Given the description of an element on the screen output the (x, y) to click on. 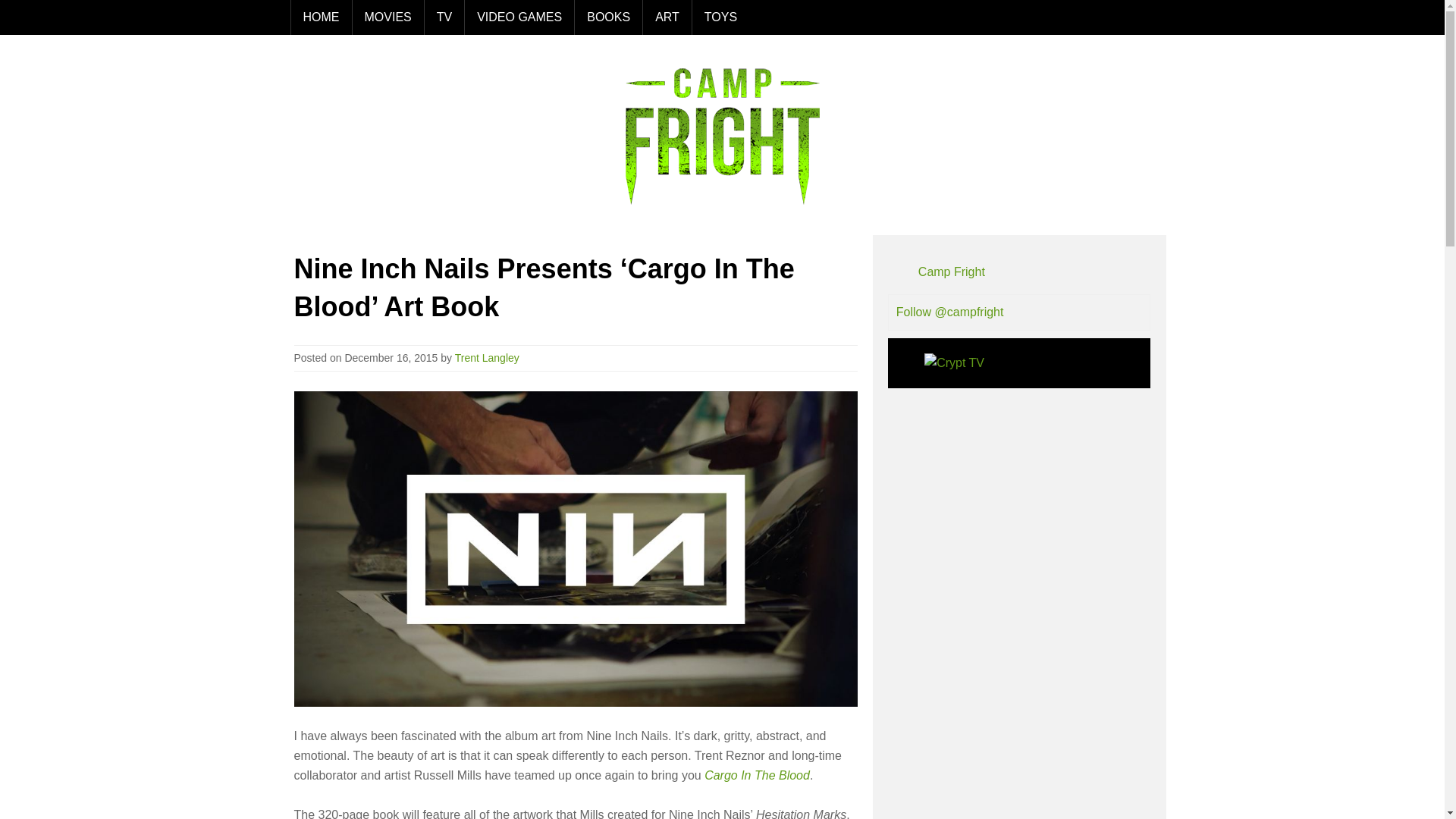
MOVIES (387, 17)
Search (1136, 17)
BOOKS (607, 17)
TOYS (720, 17)
TV (443, 17)
Trent Langley (486, 357)
Posts by Trent Langley (486, 357)
HOME (319, 17)
Camp Fright (951, 271)
ART (666, 17)
